Given the description of an element on the screen output the (x, y) to click on. 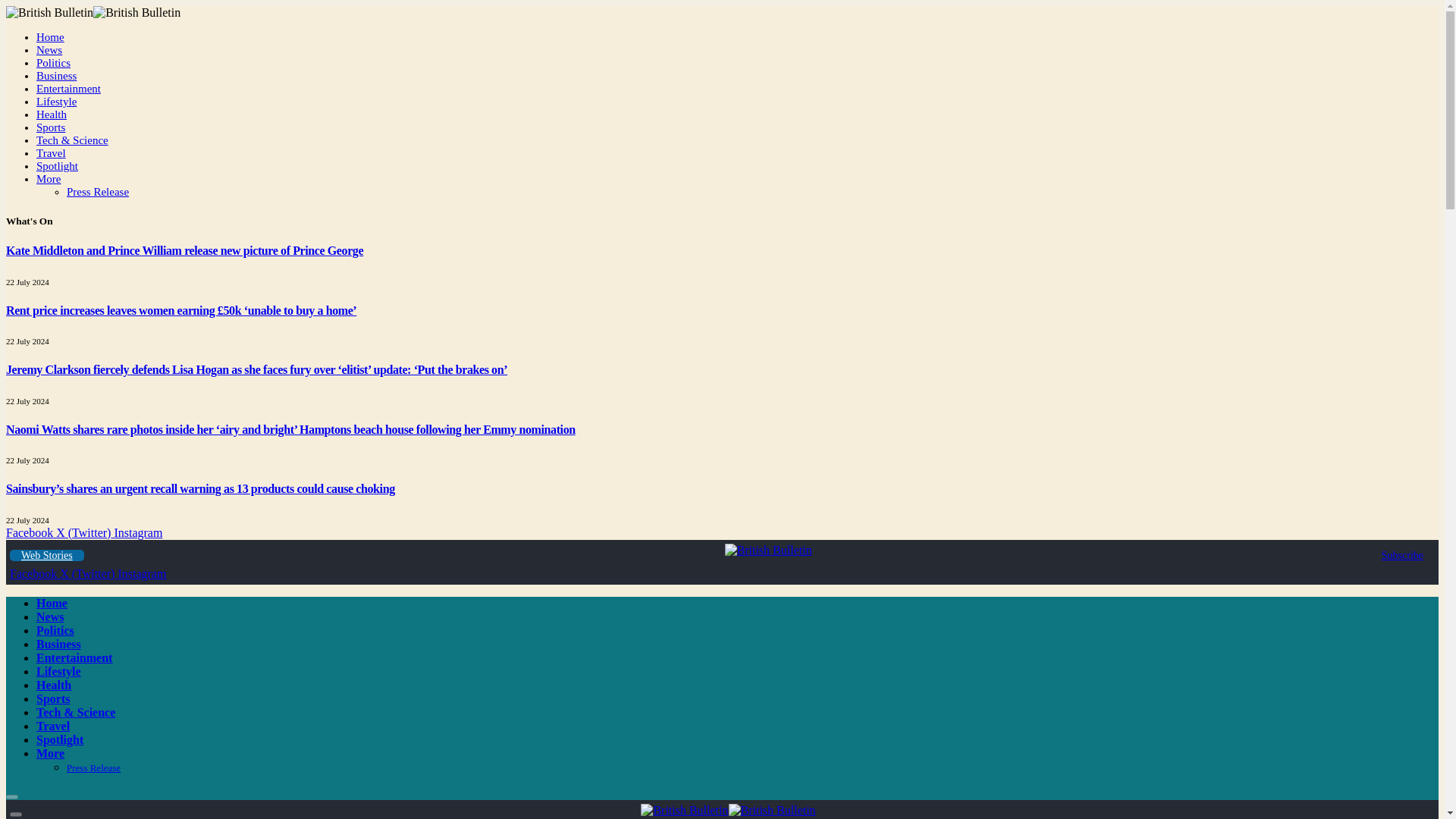
Facebook (30, 532)
Web Stories (47, 555)
Health (51, 114)
Entertainment (68, 88)
Home (51, 603)
Press Release (97, 191)
More (48, 178)
Travel (50, 152)
Facebook (34, 573)
Politics (55, 630)
Politics (52, 62)
Home (50, 37)
Business (56, 75)
British Bulletin (727, 809)
